Given the description of an element on the screen output the (x, y) to click on. 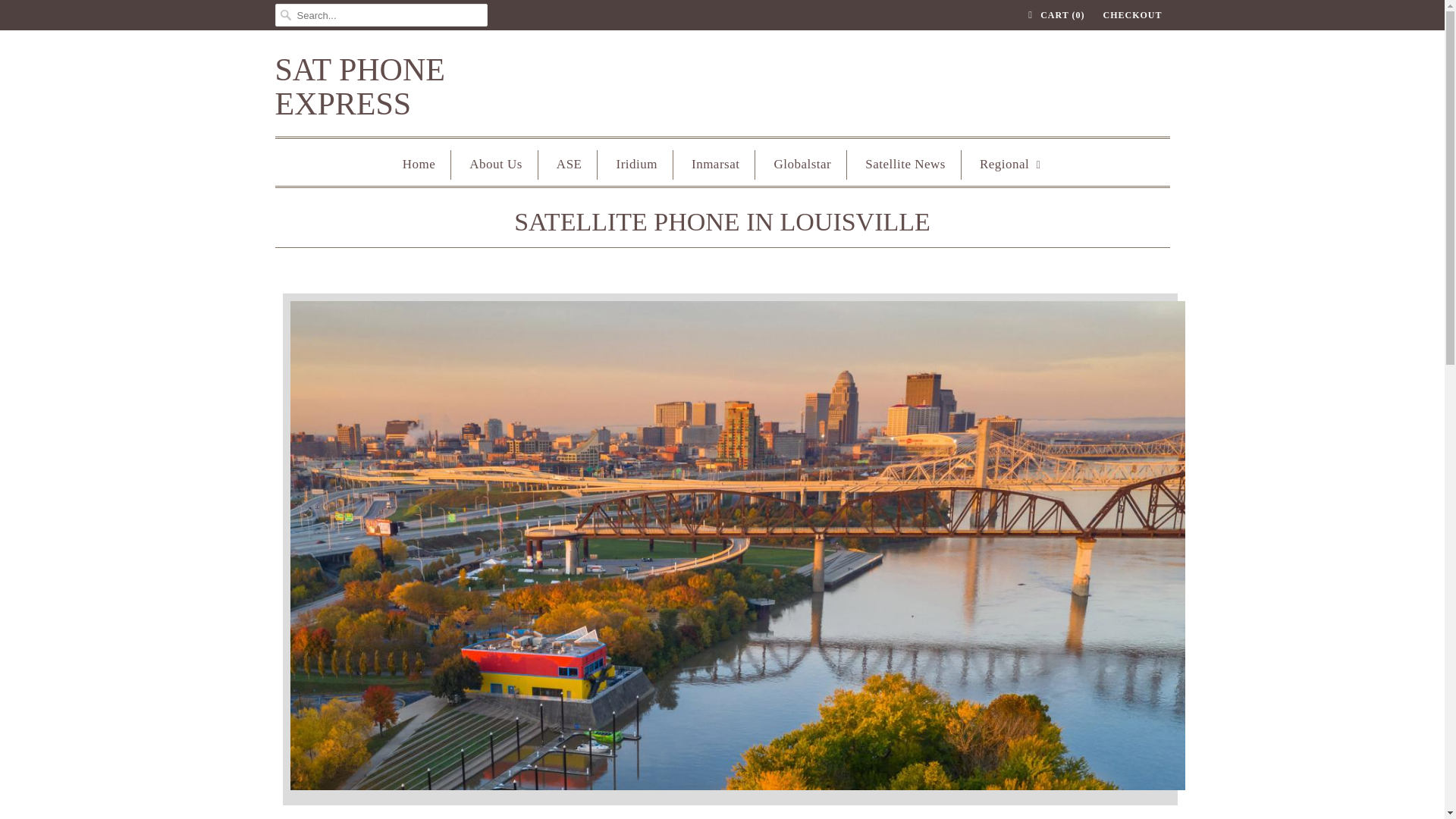
Satellite News (904, 164)
CHECKOUT (1131, 15)
Globalstar (802, 164)
Home (419, 164)
SAT PHONE EXPRESS (426, 87)
Iridium (636, 164)
Regional (1010, 164)
About Us (495, 164)
Sat Phone Express (426, 87)
Inmarsat (715, 164)
